Given the description of an element on the screen output the (x, y) to click on. 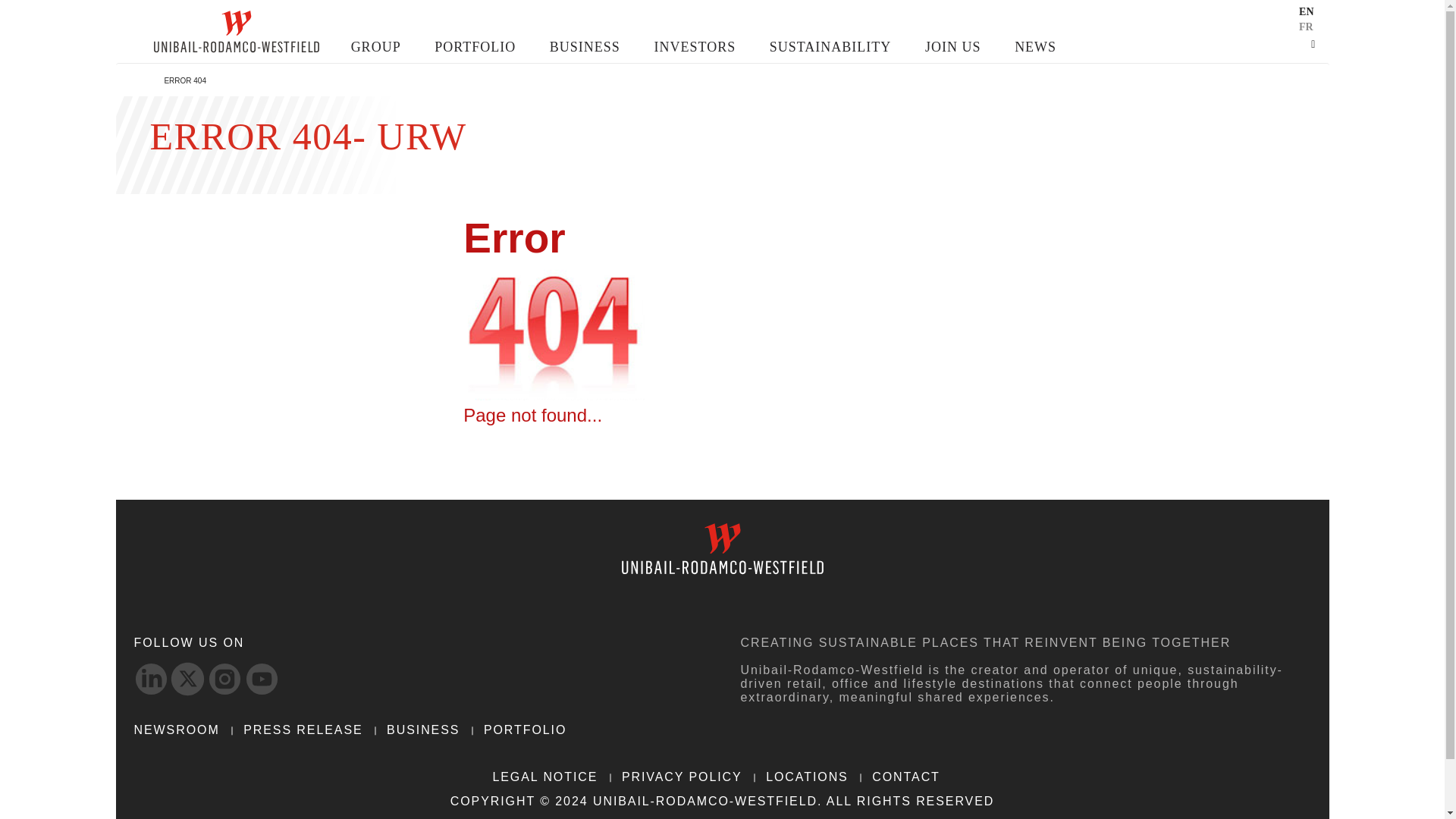
Skip to main content (163, 7)
PORTFOLIO (474, 47)
SUSTAINABILITY (830, 47)
Portfolio (474, 47)
Investors (694, 47)
URW (235, 31)
Business (585, 47)
Skip to main content (163, 7)
BUSINESS (585, 47)
INVESTORS (694, 47)
